Given the description of an element on the screen output the (x, y) to click on. 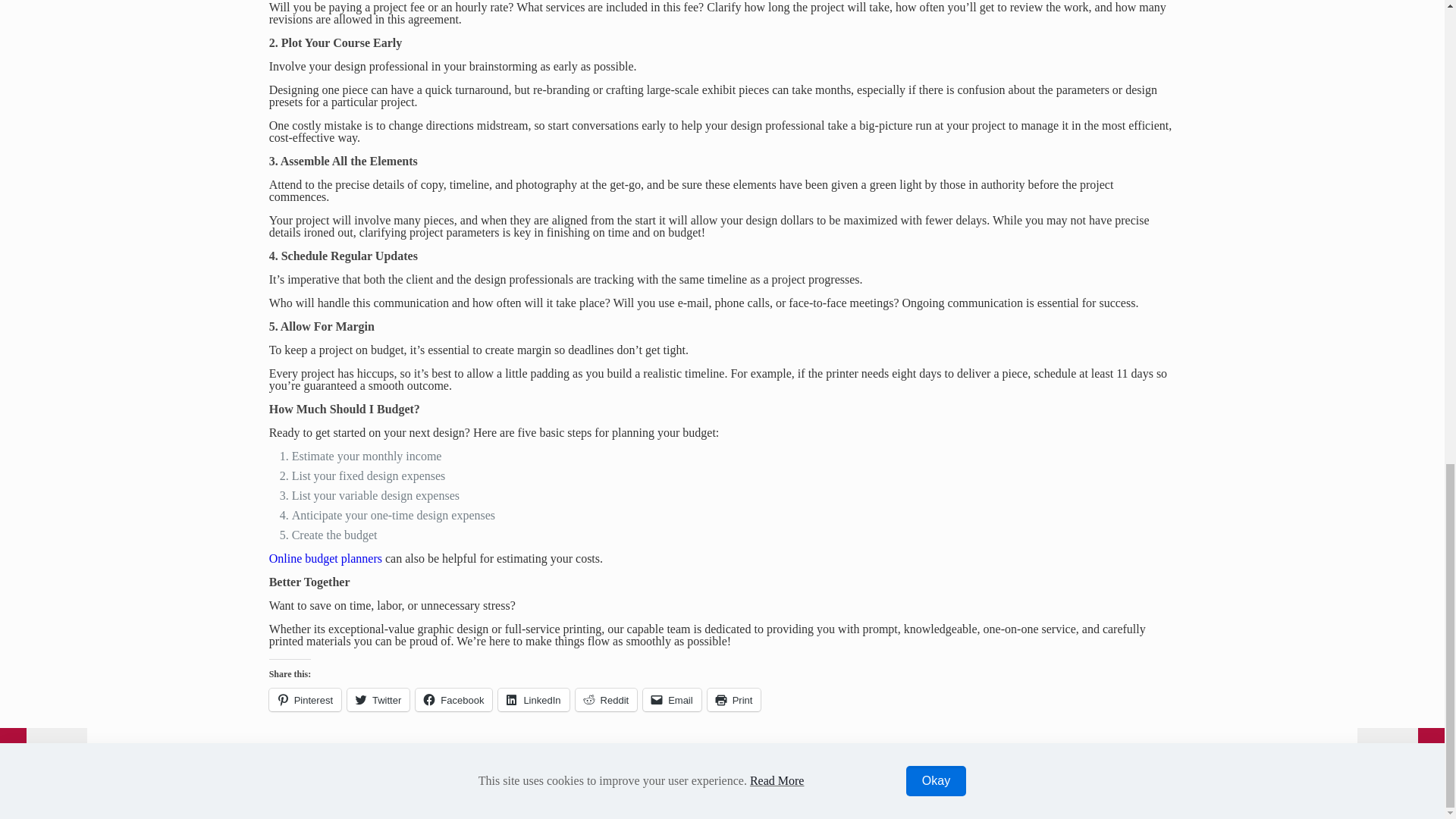
LinkedIn (1106, 797)
Facebook (453, 699)
Print (734, 699)
Facebook (1074, 797)
Click to share on Facebook (453, 699)
Click to share on Reddit (606, 699)
Reddit (606, 699)
Terms of Service (388, 784)
Knucklehead Productions LLC (1033, 772)
Email (672, 699)
Online budget planners (325, 558)
Click to share on LinkedIn (533, 699)
Privacy Policy (303, 784)
Click to share on Twitter (378, 699)
LinkedIn (533, 699)
